Given the description of an element on the screen output the (x, y) to click on. 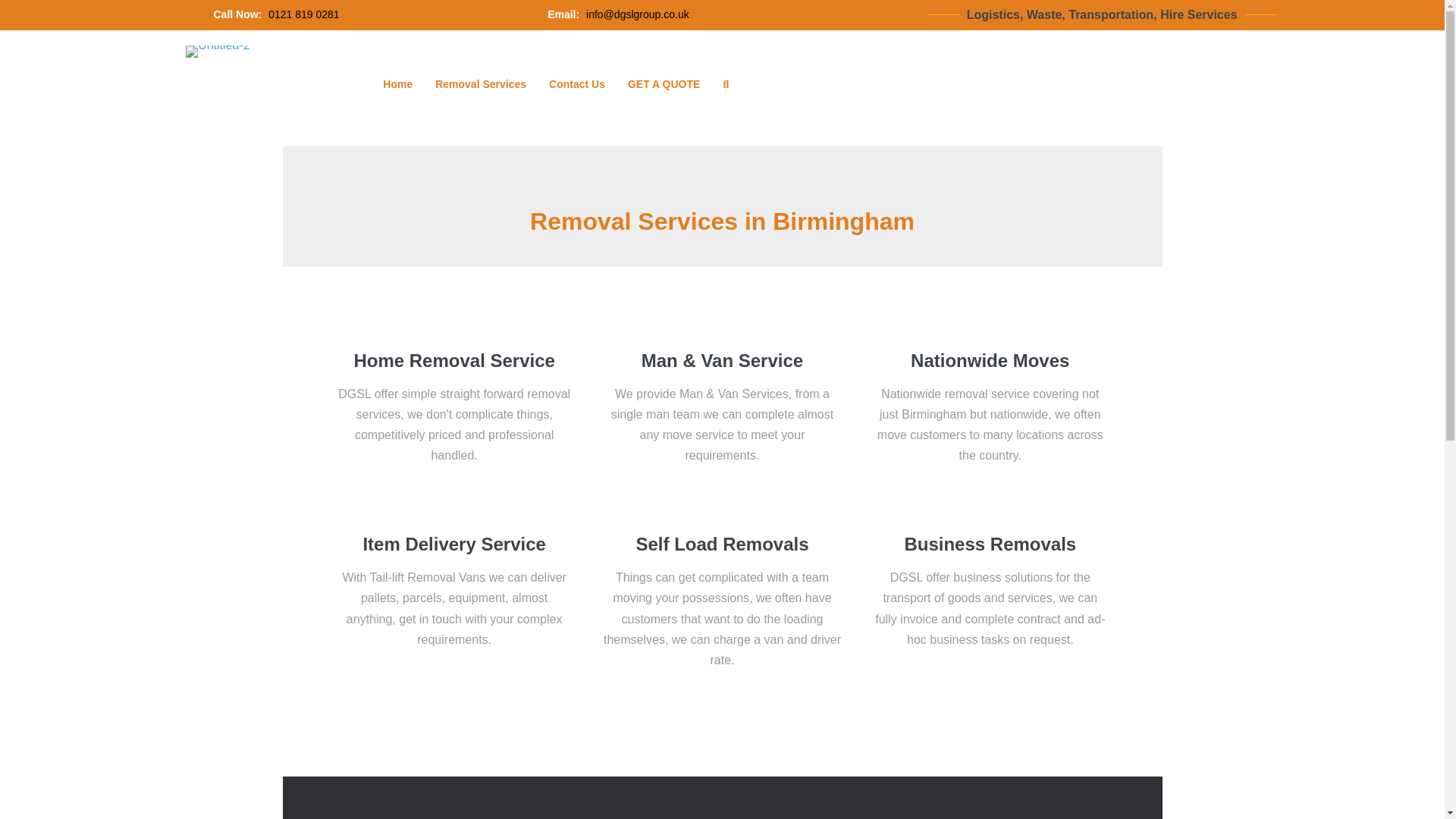
Contact Us (576, 84)
Removal Services (480, 84)
Home (397, 84)
Untitled-2 (217, 51)
GET A QUOTE (663, 84)
